Given the description of an element on the screen output the (x, y) to click on. 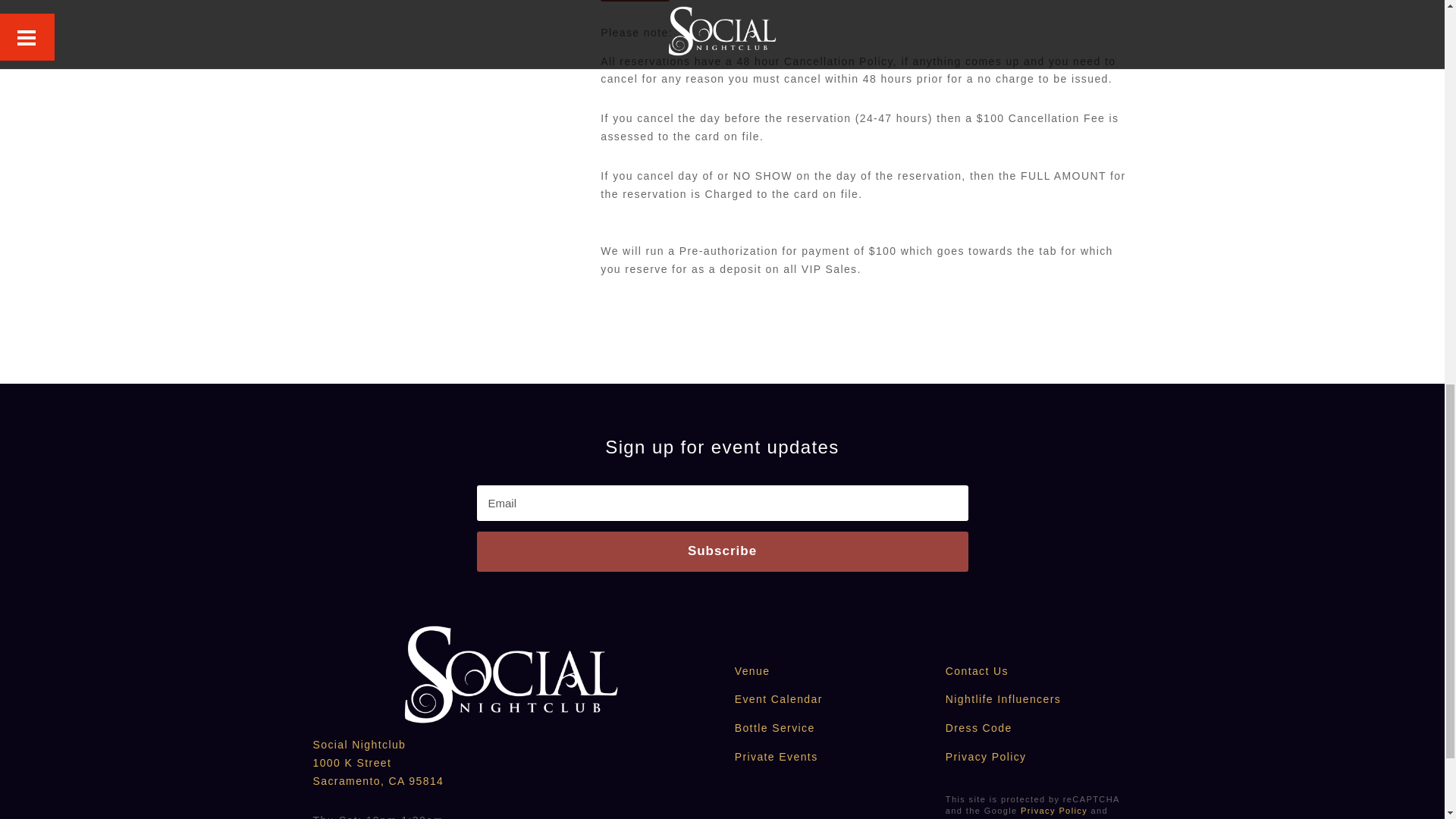
Send (634, 0)
Dress Code (977, 727)
Privacy Policy (1053, 809)
Sacramento, CA 95814 (378, 780)
Privacy Policy (985, 756)
Private Events (776, 756)
Subscribe (722, 551)
1000 K Street (352, 762)
Bottle Service (775, 727)
Send (634, 0)
Contact Us (976, 671)
Social-logo-white (510, 674)
Nightlife Influencers (1002, 698)
Event Calendar (778, 698)
